Given the description of an element on the screen output the (x, y) to click on. 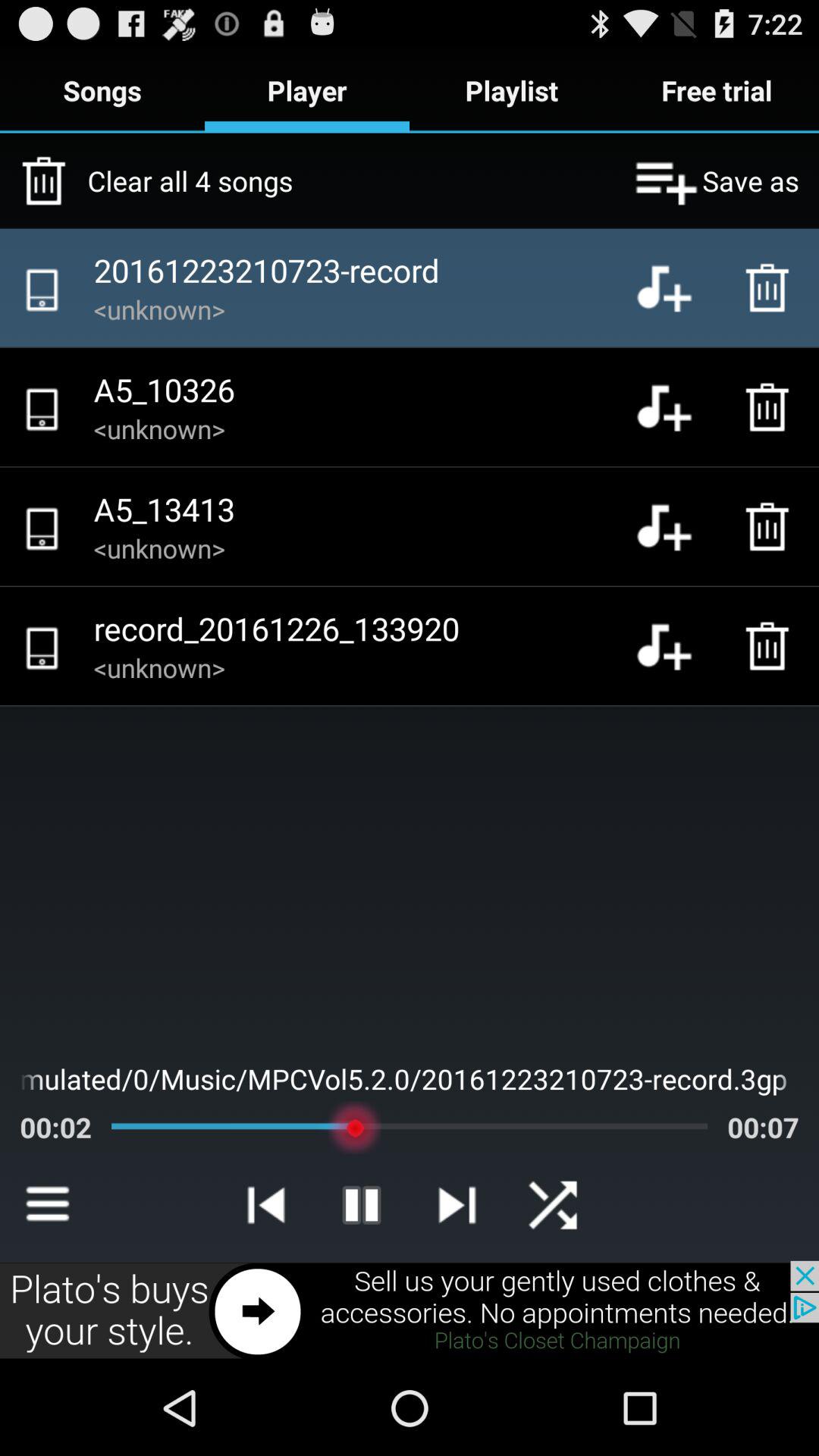
delete recording (771, 407)
